Given the description of an element on the screen output the (x, y) to click on. 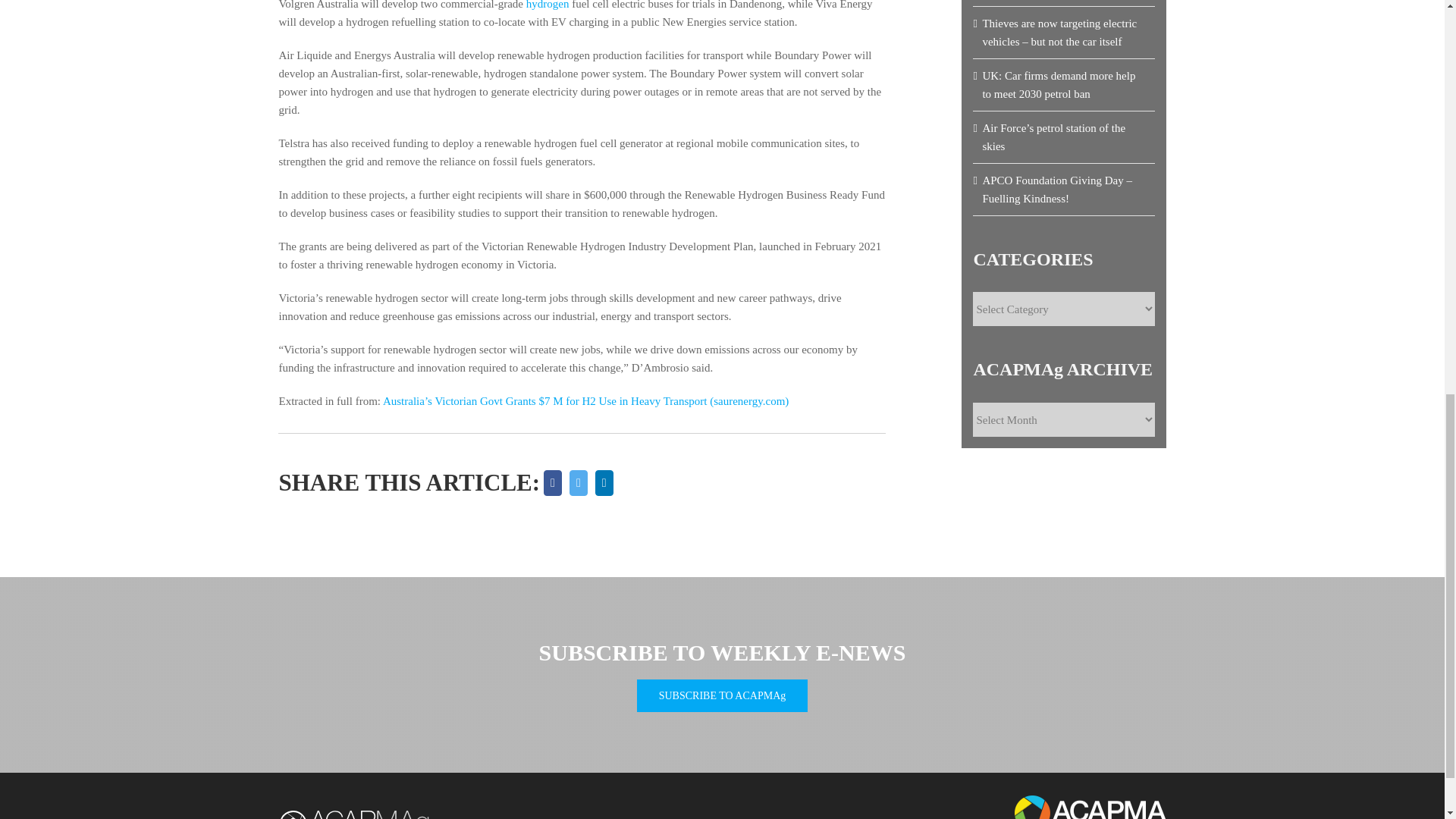
hydrogen (547, 4)
SUBSCRIBE TO ACAPMAg (722, 695)
LinkedIn (604, 482)
Facebook (553, 482)
UK: Car firms demand more help to meet 2030 petrol ban (1058, 84)
Twitter (578, 482)
